Given the description of an element on the screen output the (x, y) to click on. 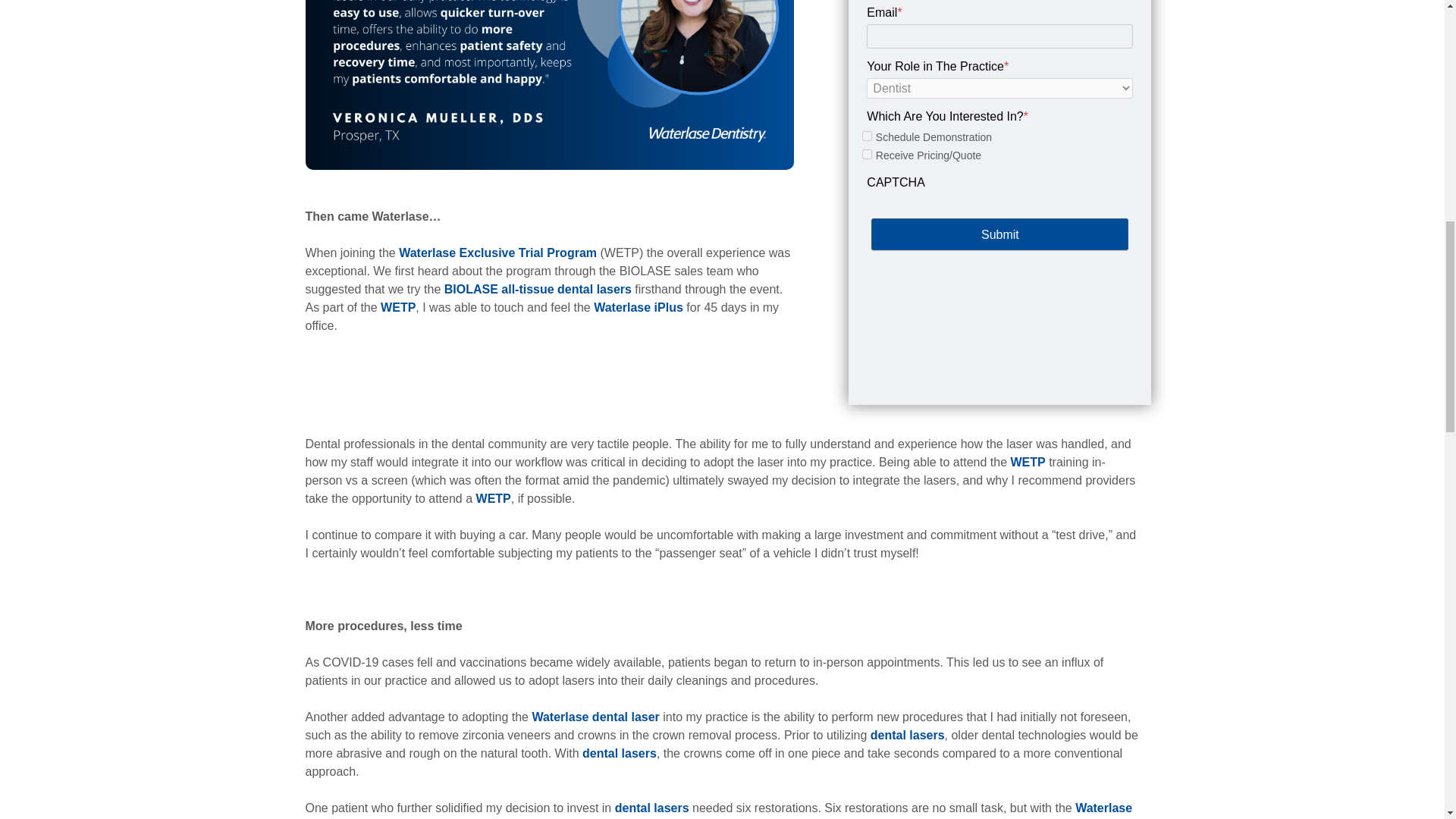
Submit (999, 234)
Schedule Demonstration (866, 135)
